Given the description of an element on the screen output the (x, y) to click on. 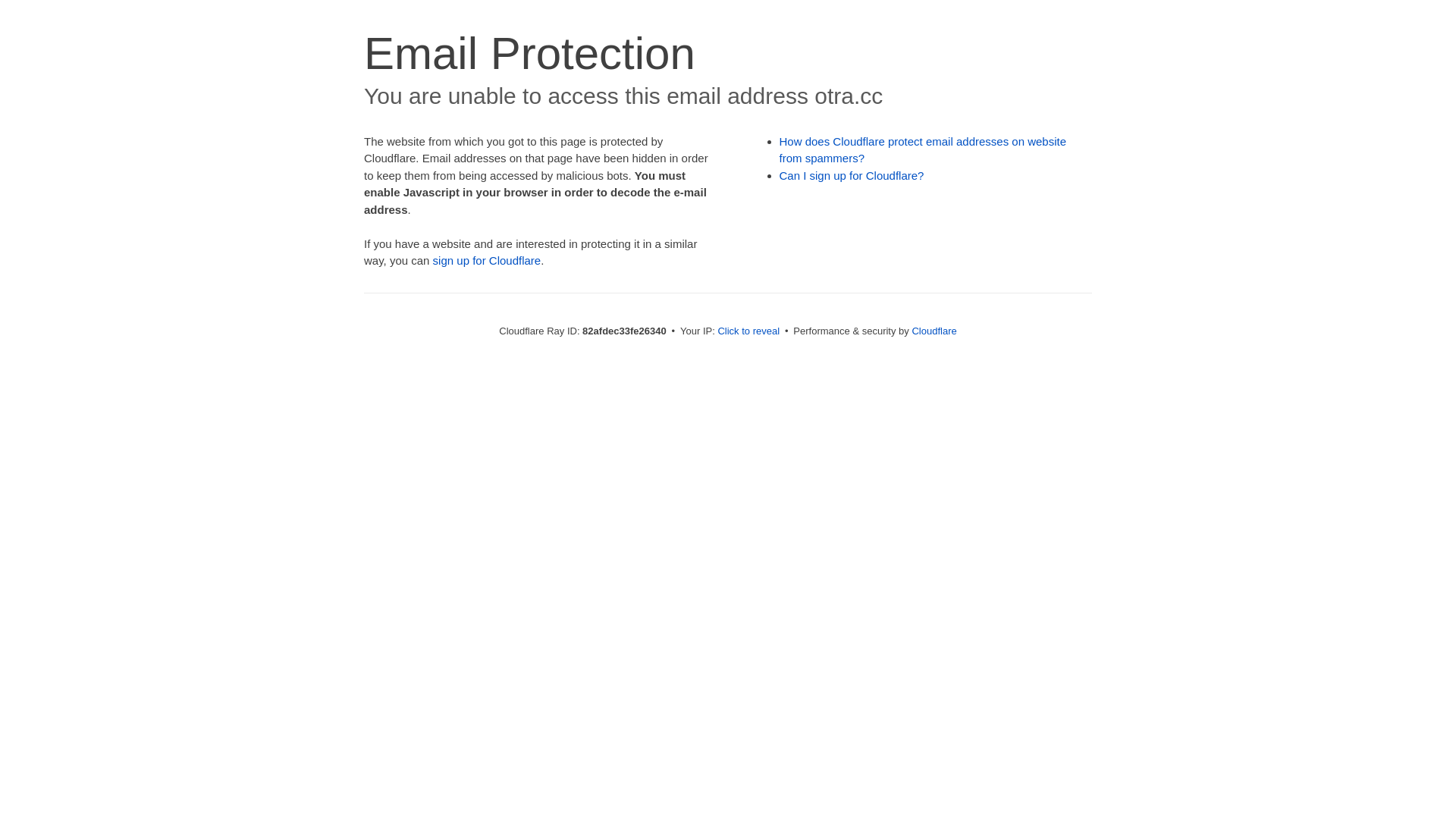
sign up for Cloudflare Element type: text (487, 260)
Click to reveal Element type: text (748, 330)
Can I sign up for Cloudflare? Element type: text (851, 175)
Cloudflare Element type: text (933, 330)
